Given the description of an element on the screen output the (x, y) to click on. 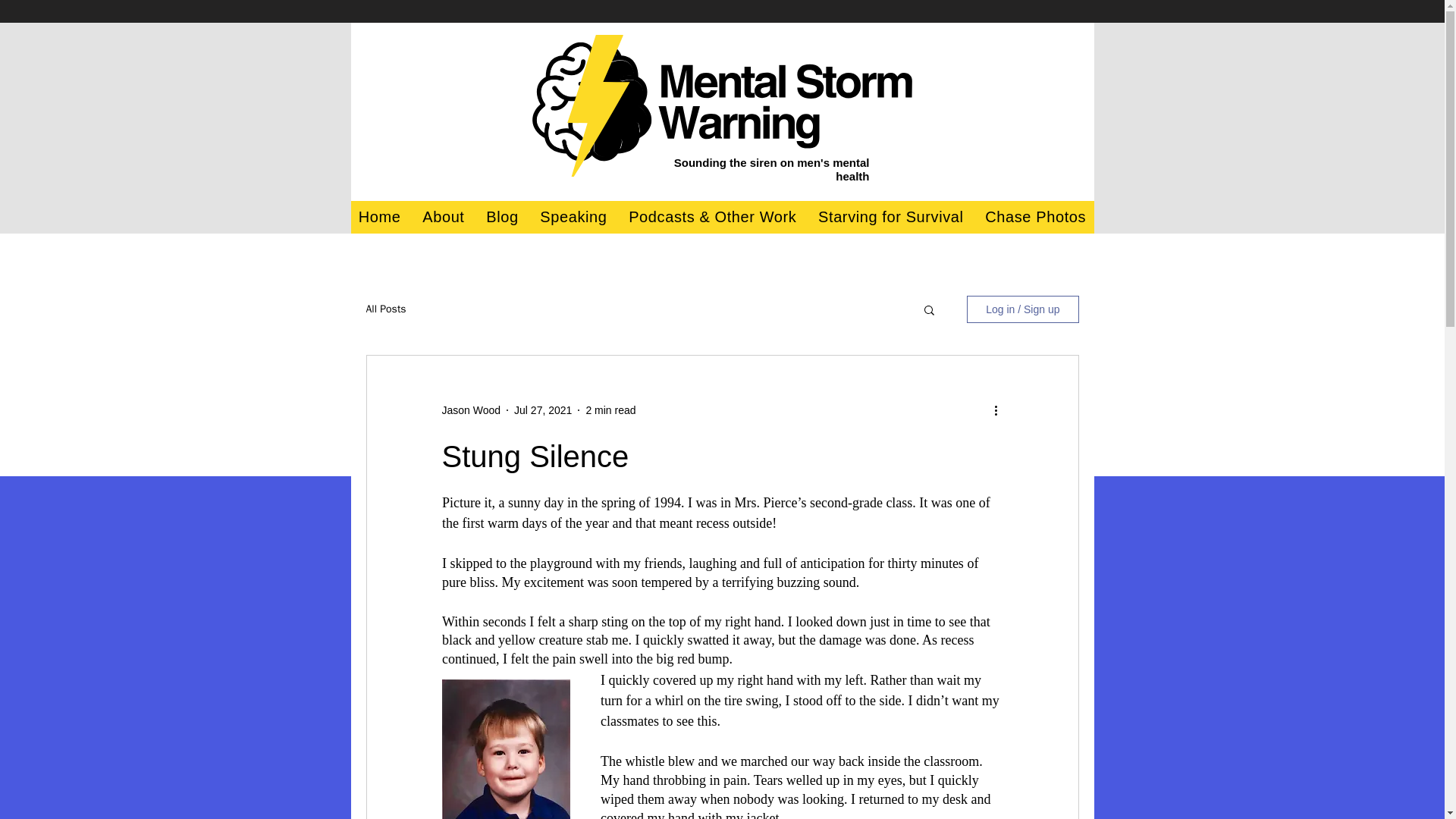
2 min read (609, 409)
Jul 27, 2021 (542, 409)
Chase Photos (1035, 216)
Starving for Survival (890, 216)
Jason Wood (470, 409)
About (442, 216)
Blog (502, 216)
Home (378, 216)
All Posts (385, 309)
Speaking (573, 216)
